Given the description of an element on the screen output the (x, y) to click on. 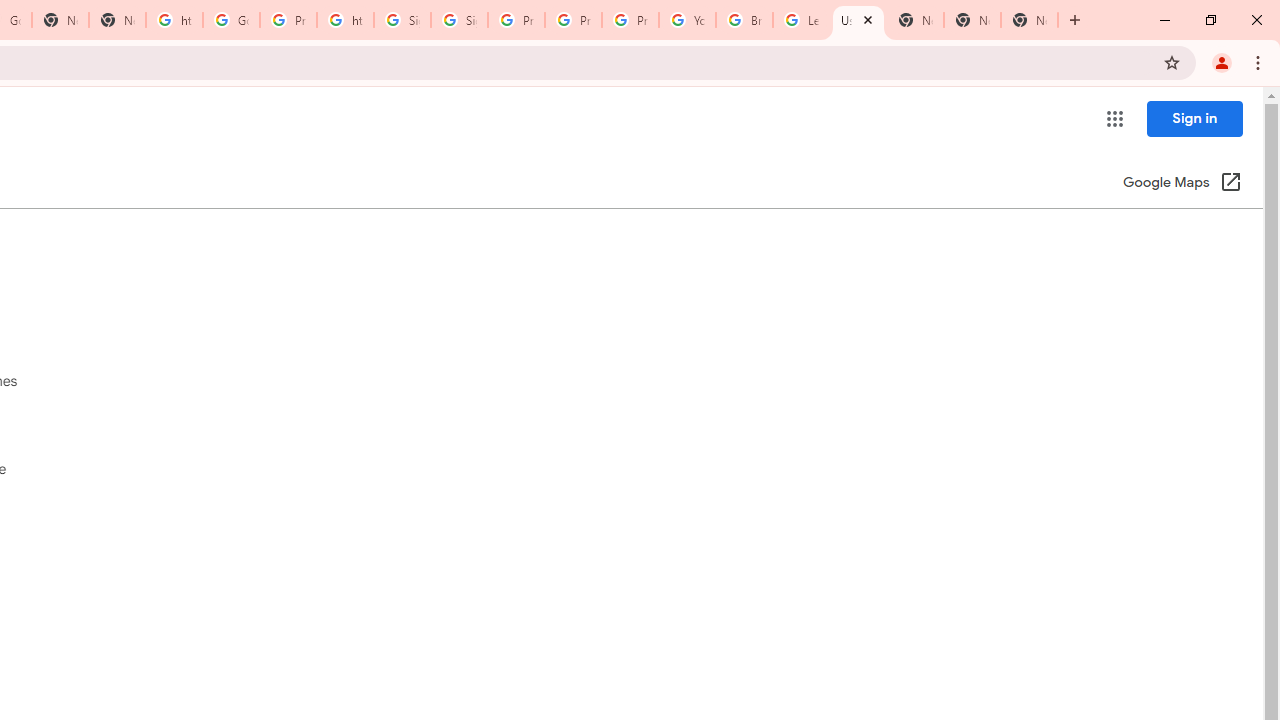
YouTube (687, 20)
Browse Chrome as a guest - Computer - Google Chrome Help (744, 20)
Google Maps (Open in a new window) (1182, 183)
Sign in - Google Accounts (402, 20)
